Given the description of an element on the screen output the (x, y) to click on. 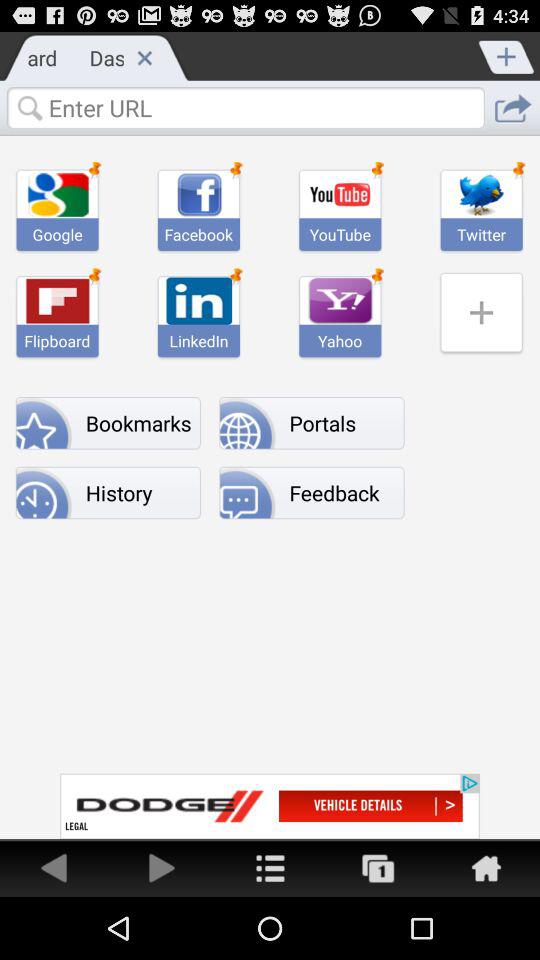
next (162, 867)
